Given the description of an element on the screen output the (x, y) to click on. 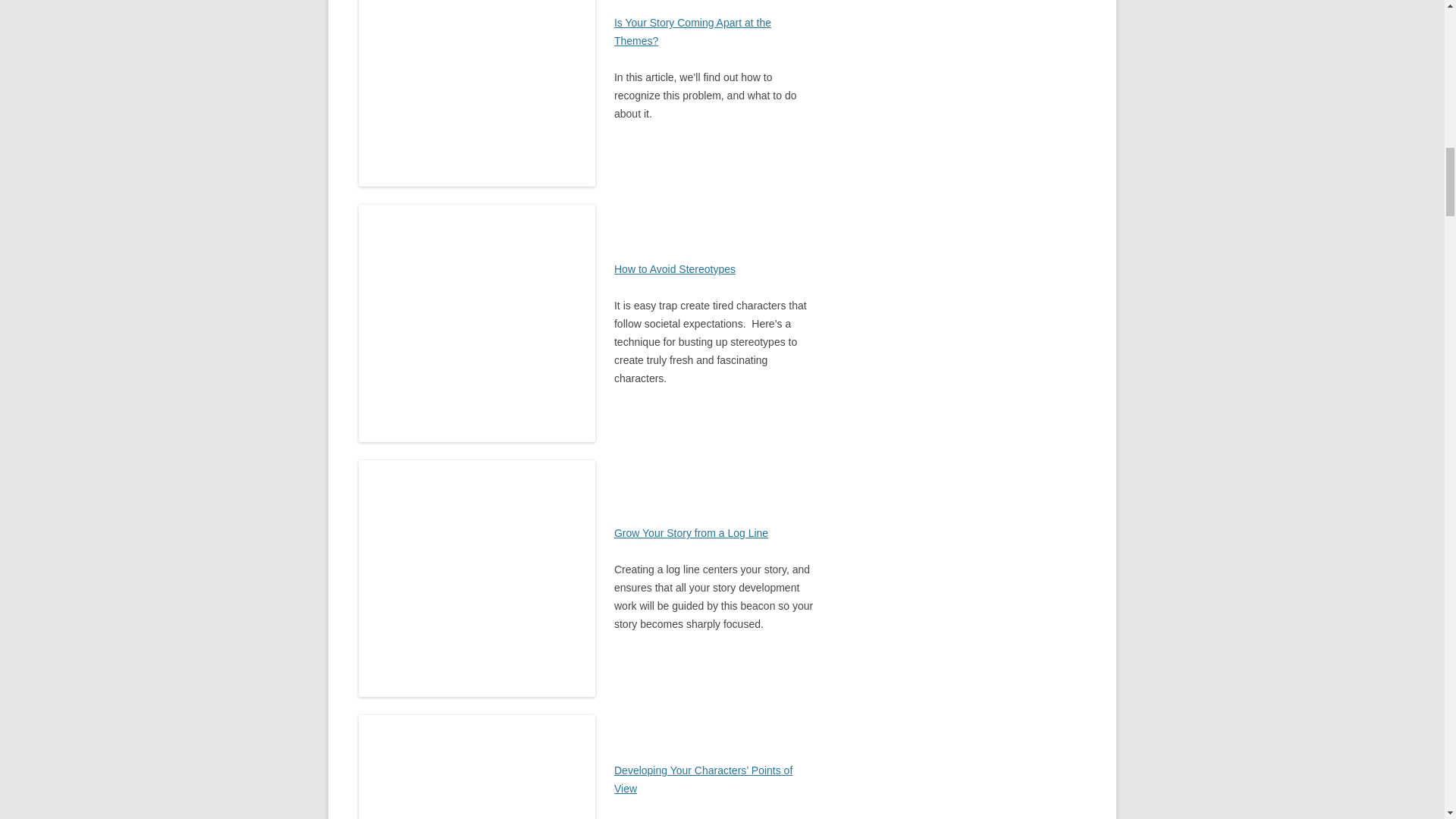
Grow Your Story from a Log Line (691, 532)
Is Your Story Coming Apart at the Themes? (692, 31)
How to Avoid Stereotypes (674, 268)
